Given the description of an element on the screen output the (x, y) to click on. 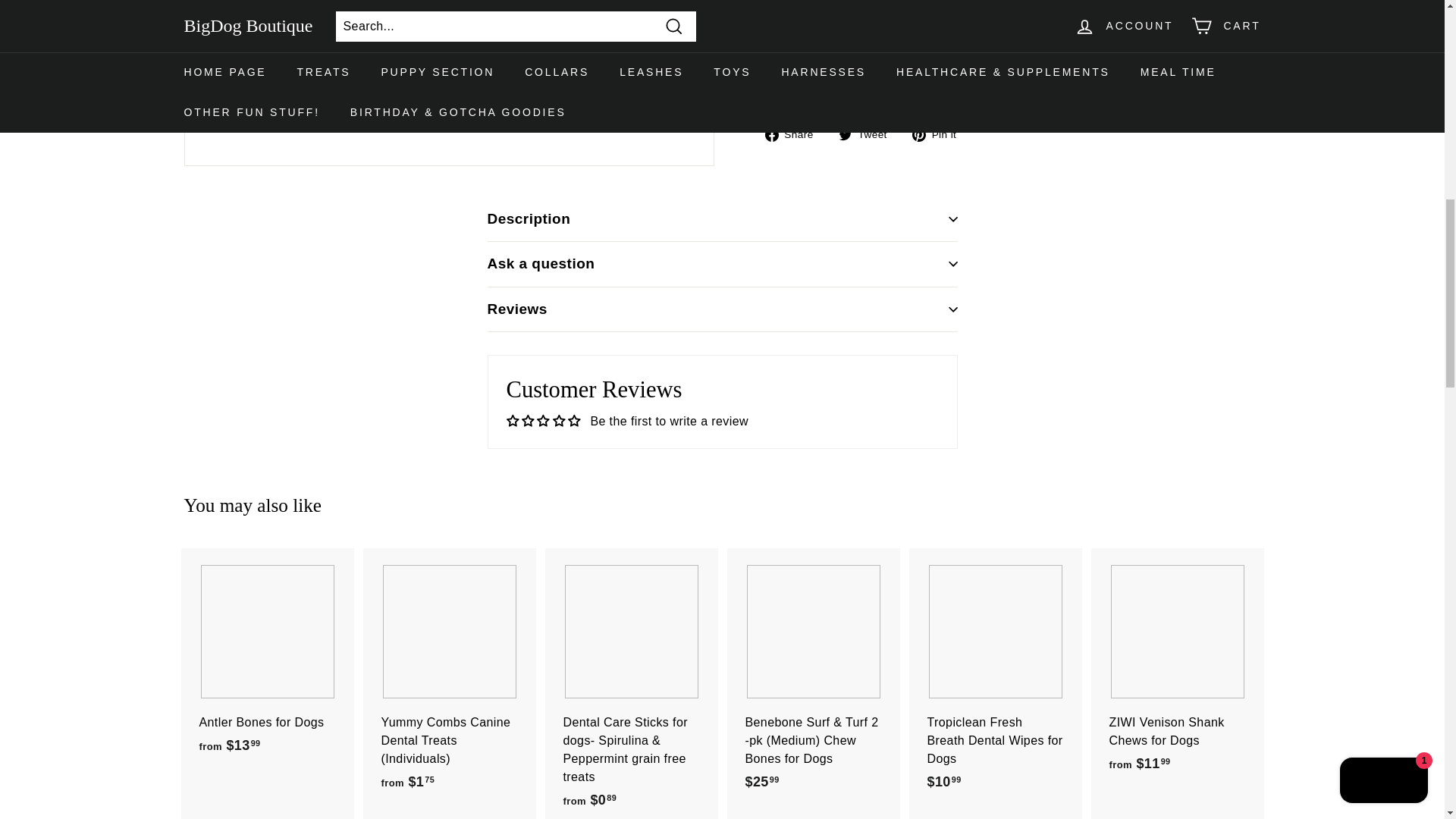
Tweet on Twitter (868, 135)
Share on Facebook (794, 135)
Pin on Pinterest (940, 135)
